Given the description of an element on the screen output the (x, y) to click on. 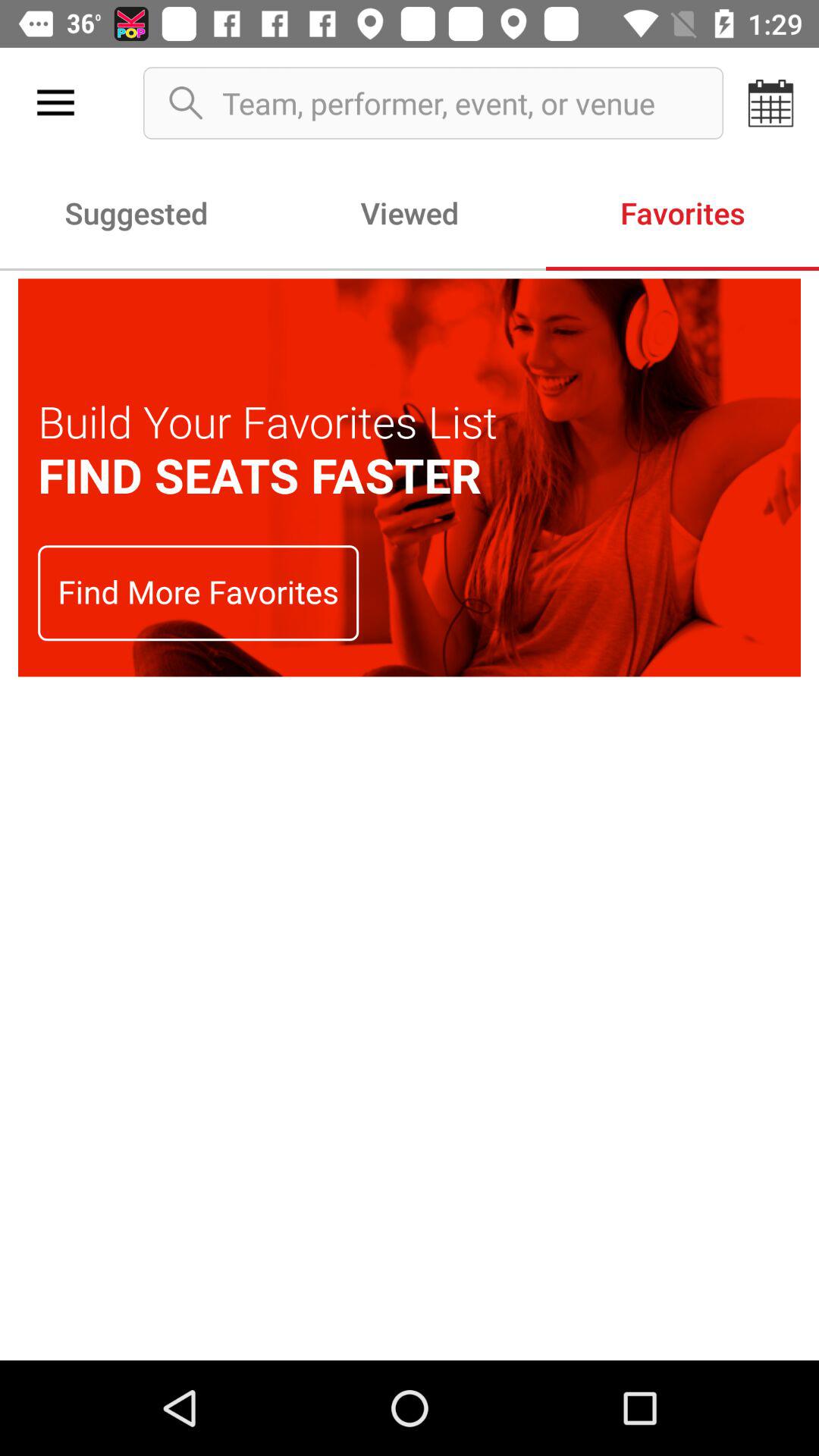
launch item to the right of team performer event icon (771, 103)
